Given the description of an element on the screen output the (x, y) to click on. 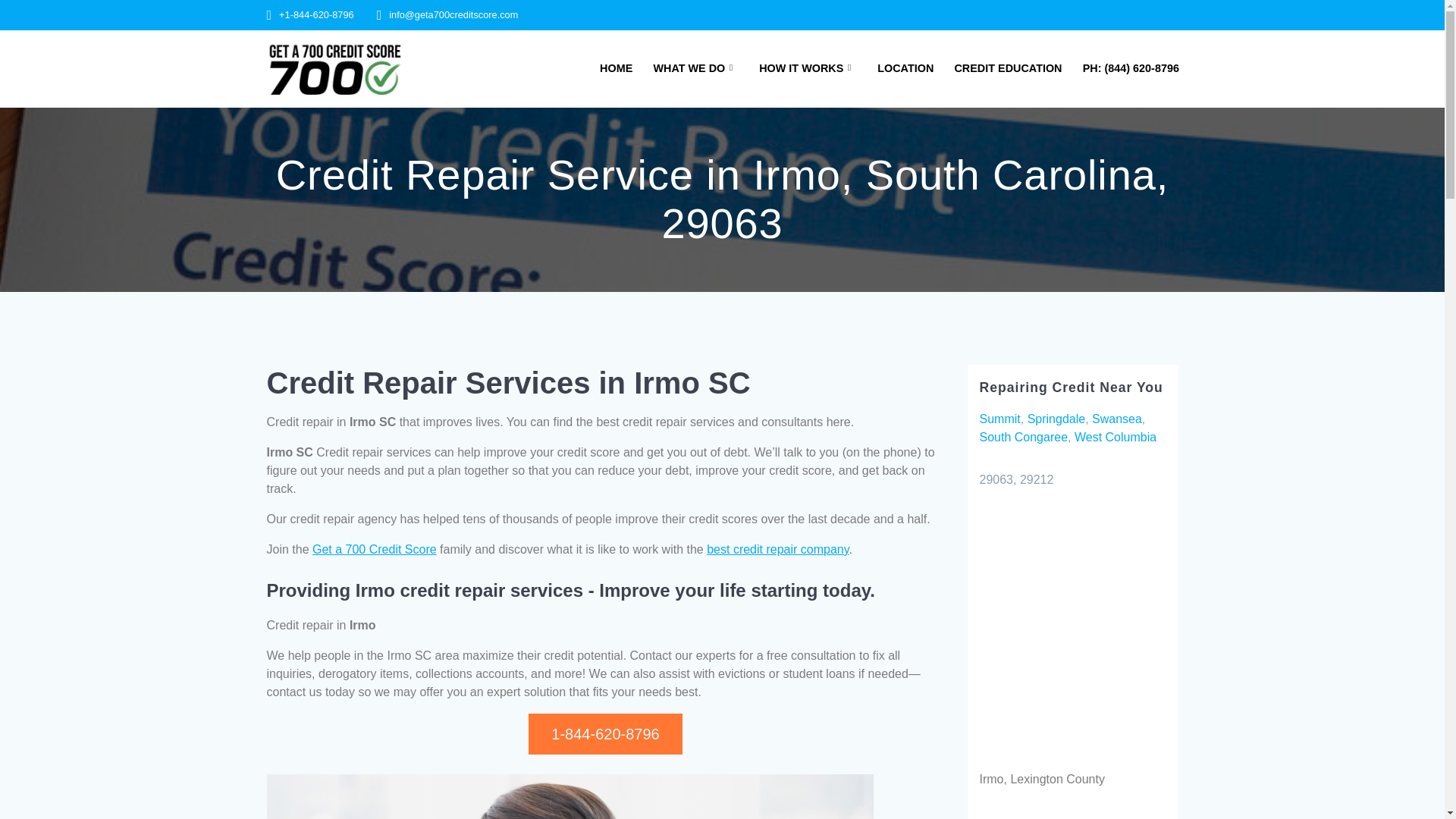
WHAT WE DO (695, 67)
HOW IT WORKS (807, 67)
1-844-620-8796 (604, 733)
best credit repair company (777, 549)
HOME (615, 67)
LOCATION (905, 67)
CREDIT EDUCATION (1007, 67)
Get a 700 Credit Score (374, 549)
